Given the description of an element on the screen output the (x, y) to click on. 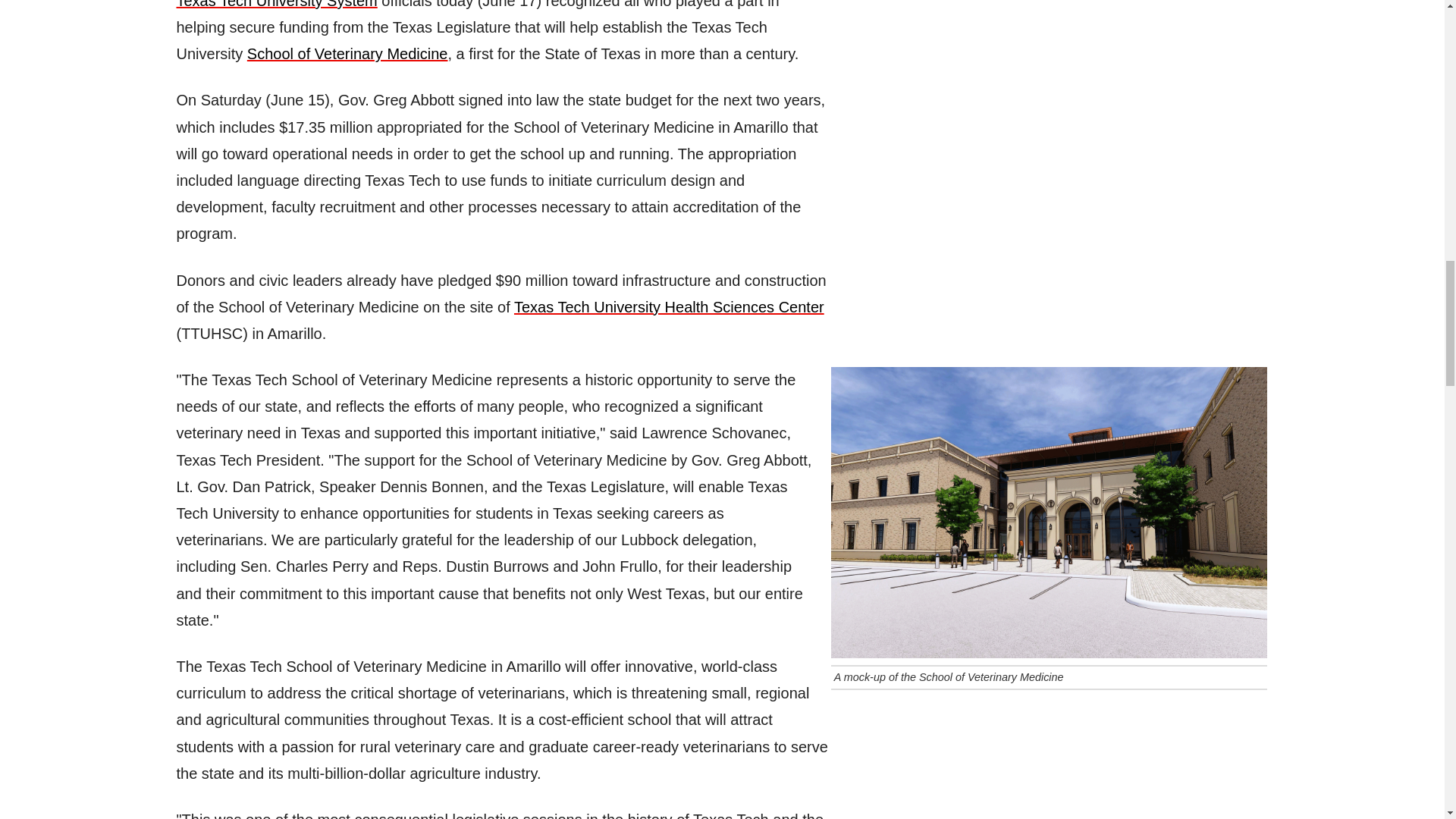
School of Veterinary Medicine (347, 53)
Texas Tech University System (276, 4)
Texas Tech University Health Sciences Center (668, 306)
